Given the description of an element on the screen output the (x, y) to click on. 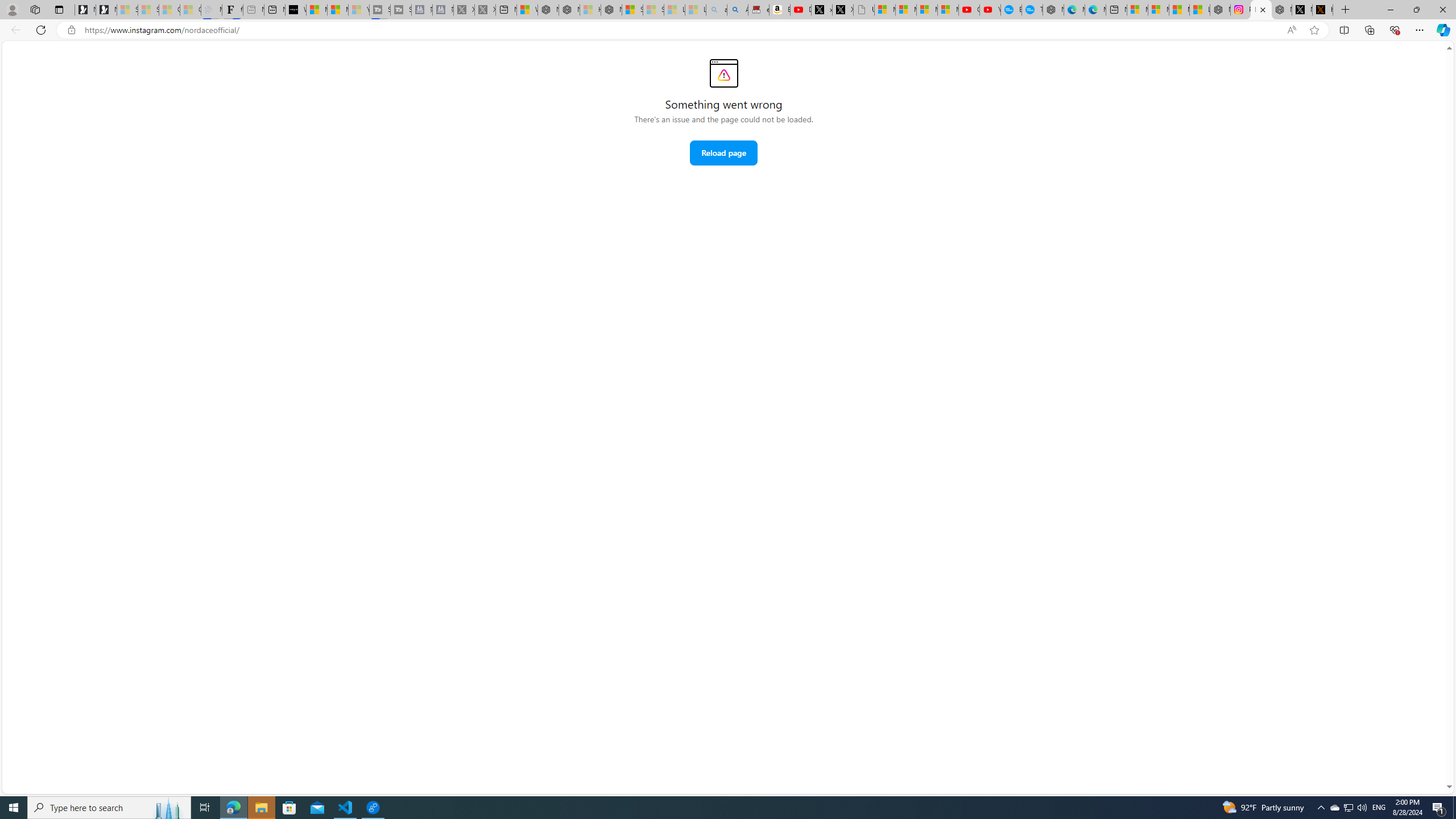
Untitled (863, 9)
The most popular Google 'how to' searches (1032, 9)
Amazon Echo Dot PNG - Search Images (737, 9)
Nordace (@NordaceOfficial) / X (1302, 9)
Reload page (723, 152)
